Given the description of an element on the screen output the (x, y) to click on. 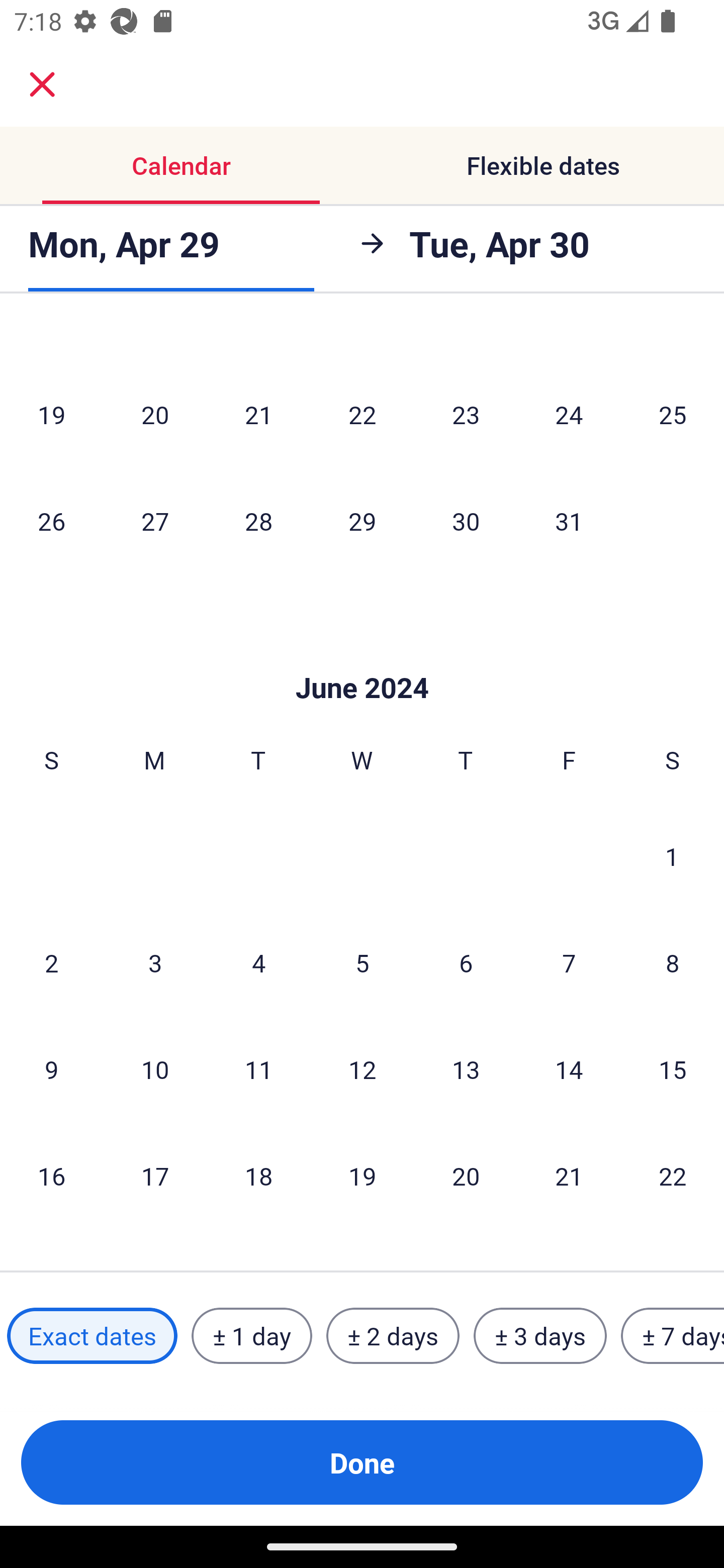
close. (42, 84)
Flexible dates (542, 164)
19 Sunday, May 19, 2024 (51, 413)
20 Monday, May 20, 2024 (155, 413)
21 Tuesday, May 21, 2024 (258, 413)
22 Wednesday, May 22, 2024 (362, 413)
23 Thursday, May 23, 2024 (465, 413)
24 Friday, May 24, 2024 (569, 413)
25 Saturday, May 25, 2024 (672, 413)
26 Sunday, May 26, 2024 (51, 520)
27 Monday, May 27, 2024 (155, 520)
28 Tuesday, May 28, 2024 (258, 520)
29 Wednesday, May 29, 2024 (362, 520)
30 Thursday, May 30, 2024 (465, 520)
31 Friday, May 31, 2024 (569, 520)
Skip to Done (362, 657)
1 Saturday, June 1, 2024 (672, 855)
2 Sunday, June 2, 2024 (51, 962)
3 Monday, June 3, 2024 (155, 962)
4 Tuesday, June 4, 2024 (258, 962)
5 Wednesday, June 5, 2024 (362, 962)
6 Thursday, June 6, 2024 (465, 962)
7 Friday, June 7, 2024 (569, 962)
8 Saturday, June 8, 2024 (672, 962)
9 Sunday, June 9, 2024 (51, 1069)
10 Monday, June 10, 2024 (155, 1069)
11 Tuesday, June 11, 2024 (258, 1069)
12 Wednesday, June 12, 2024 (362, 1069)
13 Thursday, June 13, 2024 (465, 1069)
14 Friday, June 14, 2024 (569, 1069)
15 Saturday, June 15, 2024 (672, 1069)
16 Sunday, June 16, 2024 (51, 1175)
17 Monday, June 17, 2024 (155, 1175)
18 Tuesday, June 18, 2024 (258, 1175)
19 Wednesday, June 19, 2024 (362, 1175)
20 Thursday, June 20, 2024 (465, 1175)
21 Friday, June 21, 2024 (569, 1175)
22 Saturday, June 22, 2024 (672, 1175)
Exact dates (92, 1335)
± 1 day (251, 1335)
± 2 days (392, 1335)
± 3 days (539, 1335)
± 7 days (672, 1335)
Done (361, 1462)
